Given the description of an element on the screen output the (x, y) to click on. 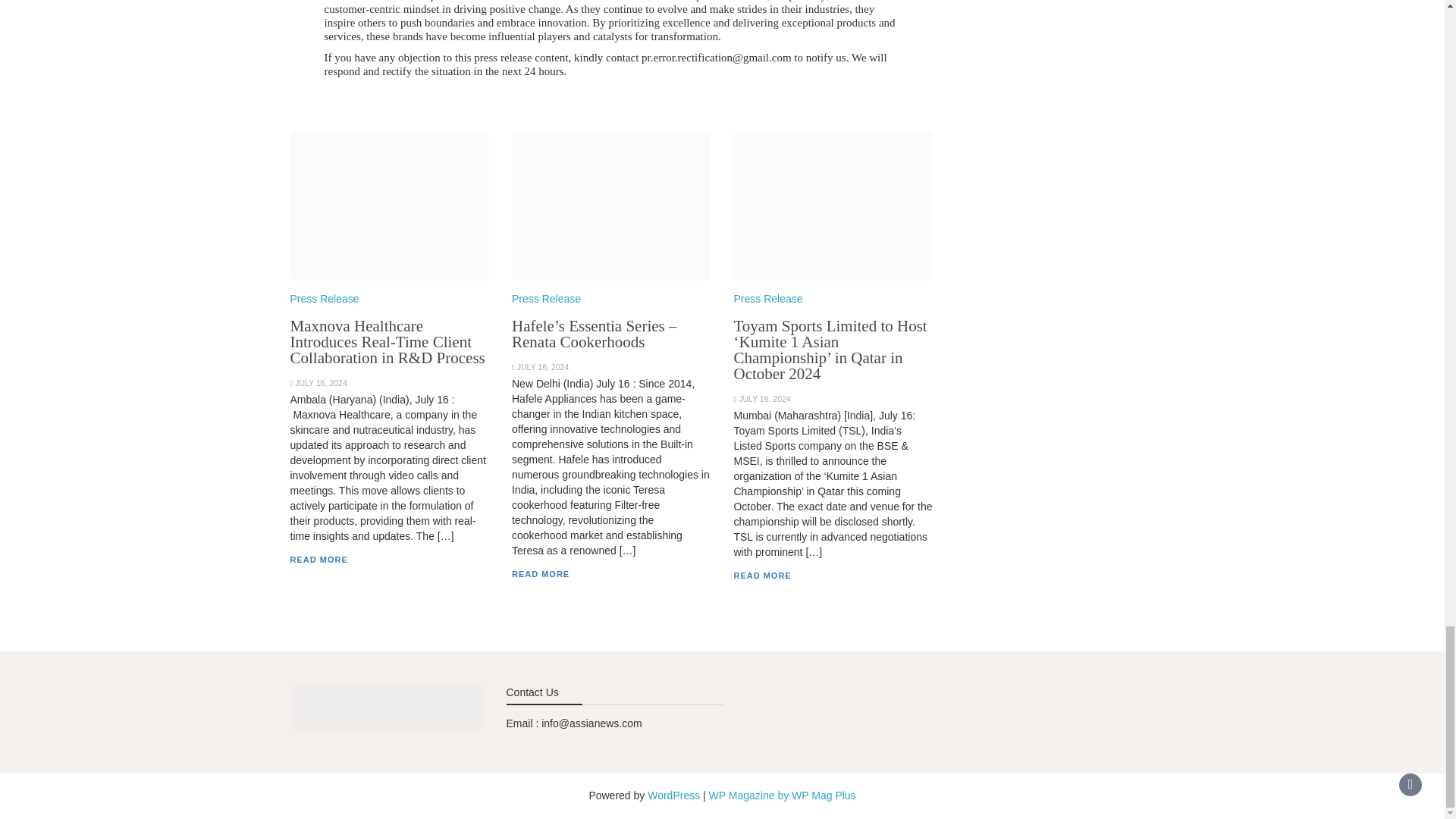
WP Magazine by WP Mag Plus (782, 795)
JULY 16, 2024 (542, 366)
JULY 16, 2024 (764, 398)
READ MORE (318, 559)
Press Release (546, 298)
WordPress (673, 795)
READ MORE (761, 574)
Press Release (323, 298)
Press Release (767, 298)
READ MORE (540, 573)
JULY 16, 2024 (321, 382)
